Given the description of an element on the screen output the (x, y) to click on. 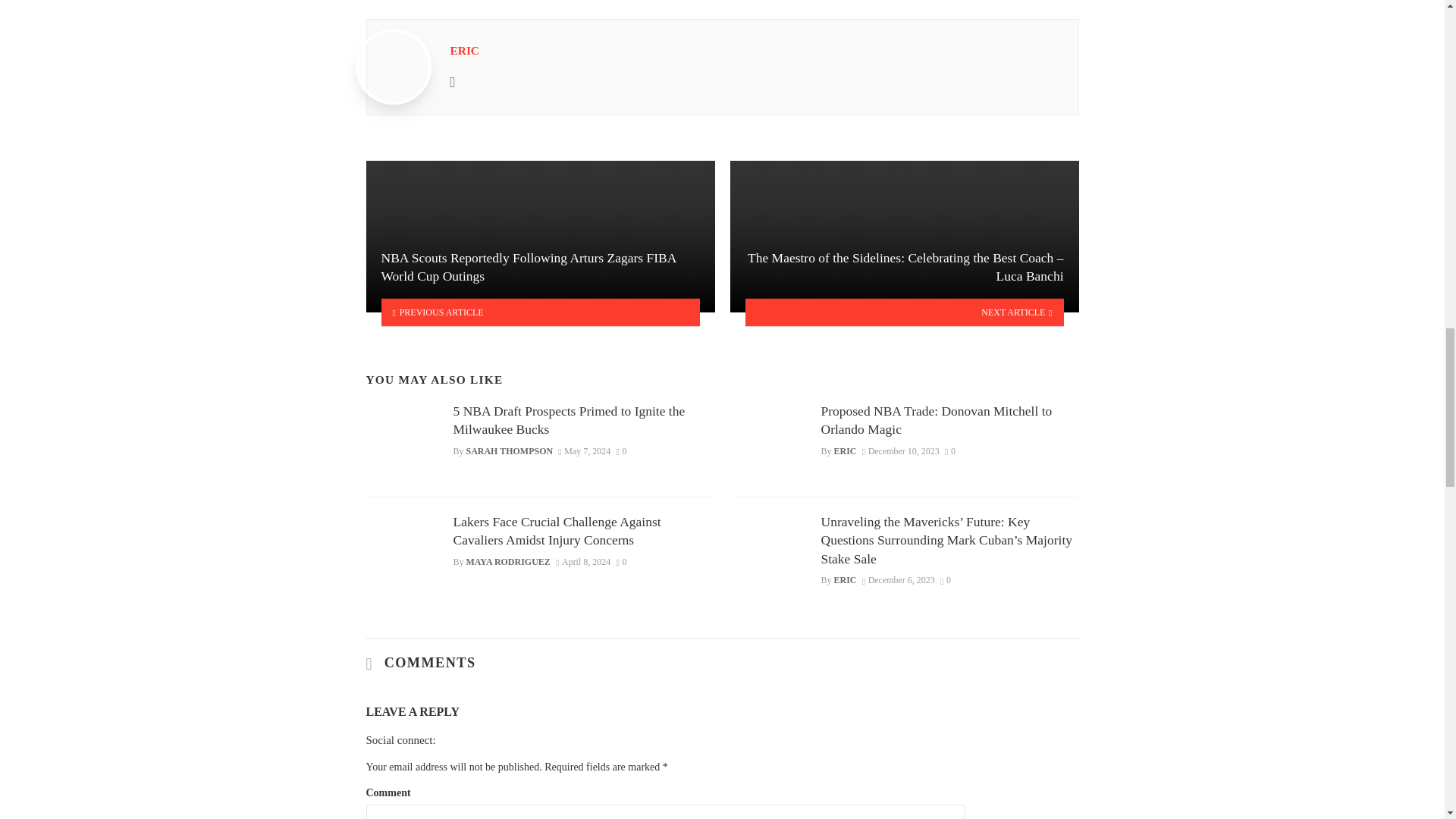
Posts by Eric (464, 50)
ERIC (464, 50)
May 7, 2024 at 11:44 am (583, 450)
5 NBA Draft Prospects Primed to Ignite the Milwaukee Bucks (581, 420)
PREVIOUS ARTICLE (539, 311)
NEXT ARTICLE (903, 311)
0 Comments (620, 450)
